Given the description of an element on the screen output the (x, y) to click on. 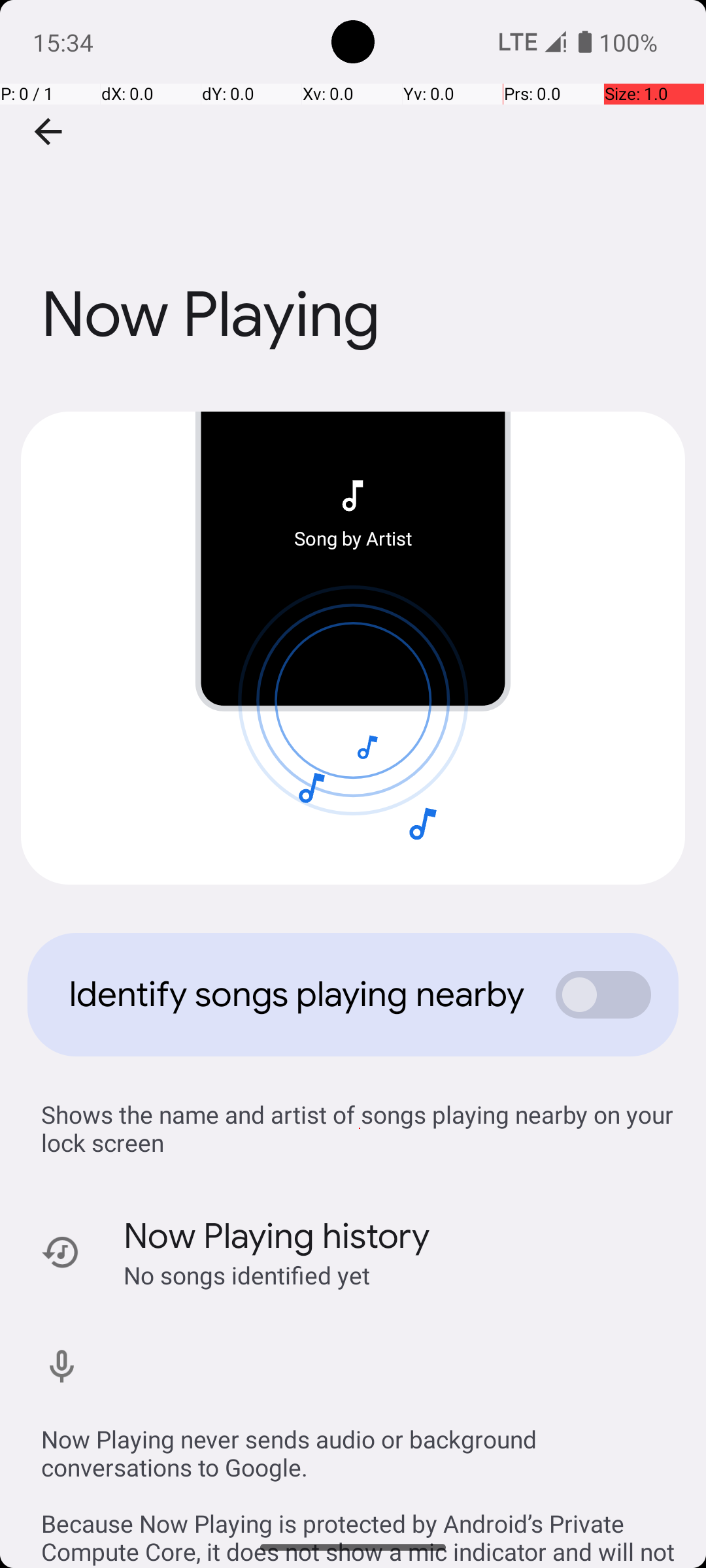
Shows the name and artist of songs playing nearby on your lock screen Element type: android.widget.TextView (359, 1128)
Now Playing history Element type: android.widget.TextView (276, 1235)
No songs identified yet Element type: android.widget.TextView (246, 1274)
Now Playing never sends audio or background conversations to Google.

Because Now Playing is protected by Android’s Private Compute Core, it does not show a mic indicator and will not appear on your Privacy dashboard. Element type: android.widget.TextView (359, 1481)
